Given the description of an element on the screen output the (x, y) to click on. 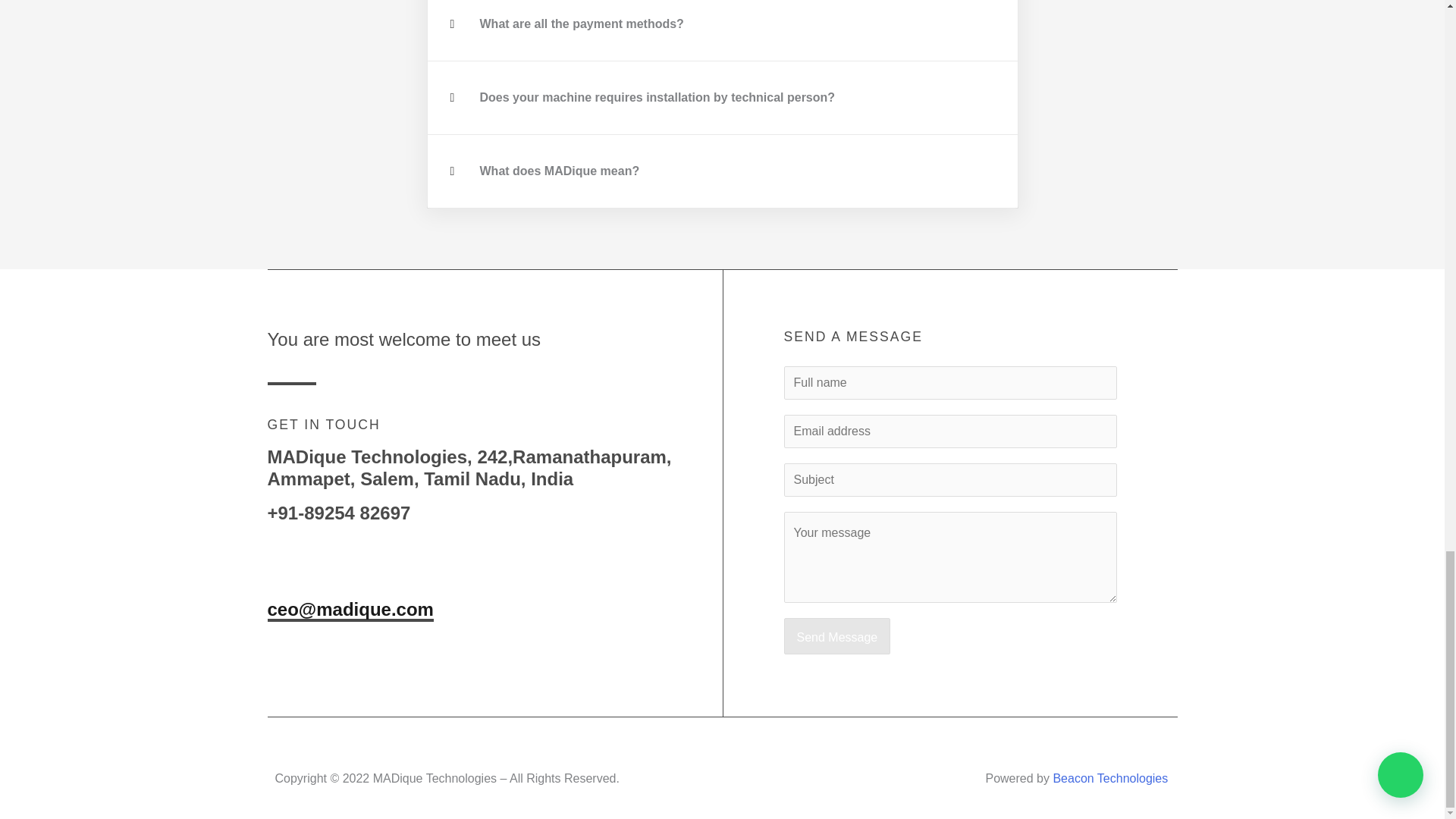
What are all the payment methods? (580, 23)
Does your machine requires installation by technical person? (656, 97)
